Given the description of an element on the screen output the (x, y) to click on. 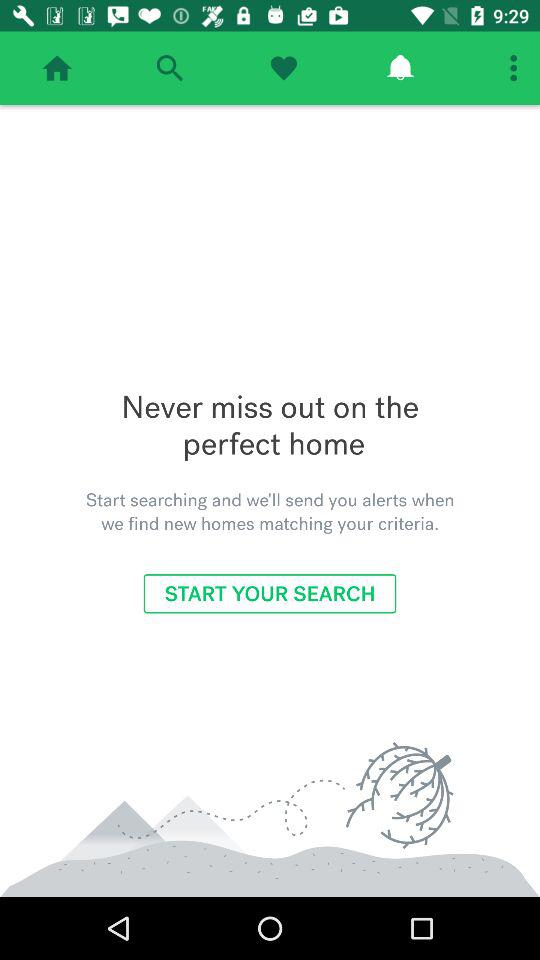
search (169, 68)
